Given the description of an element on the screen output the (x, y) to click on. 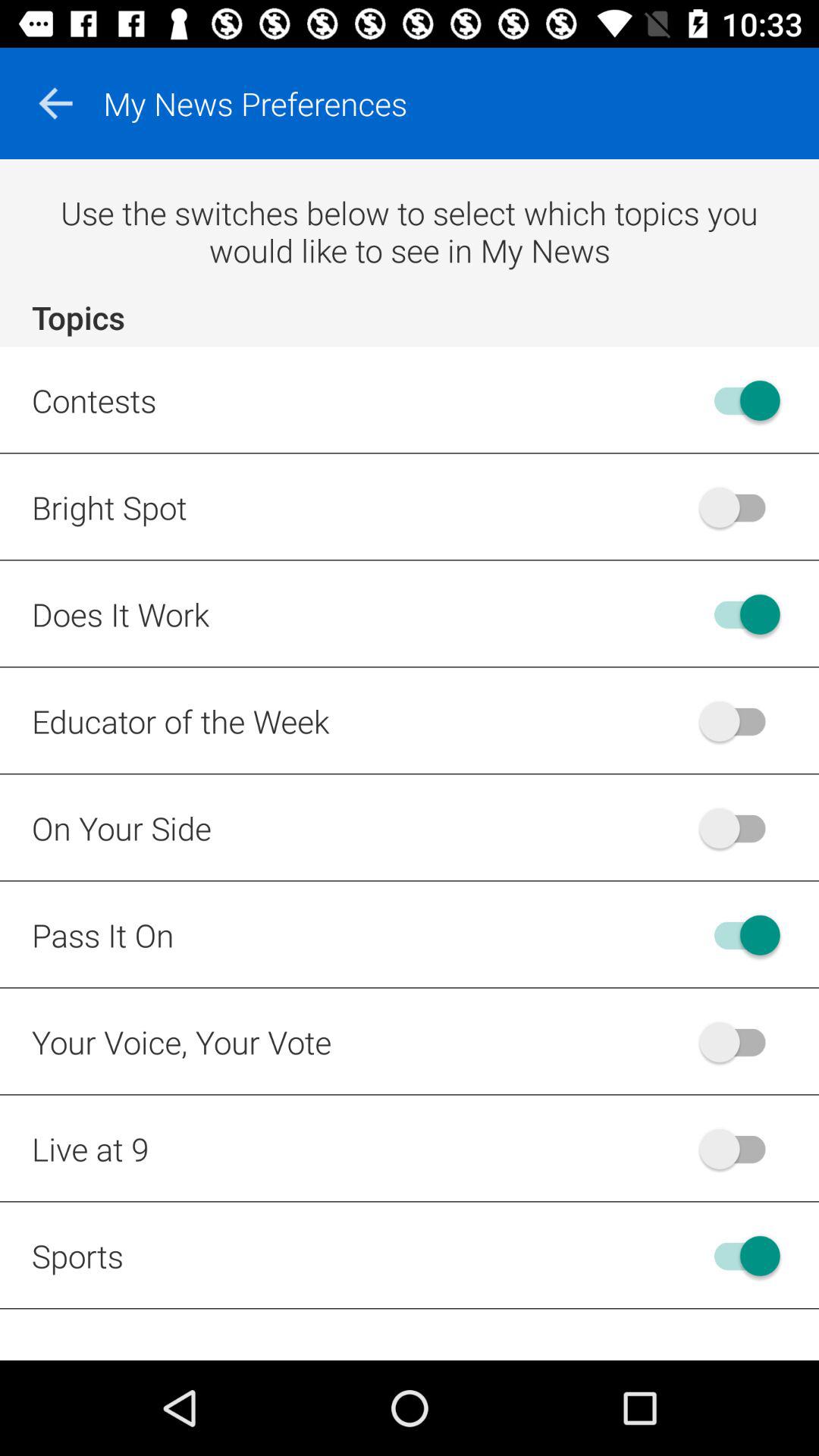
turn off pass it on (739, 934)
